Given the description of an element on the screen output the (x, y) to click on. 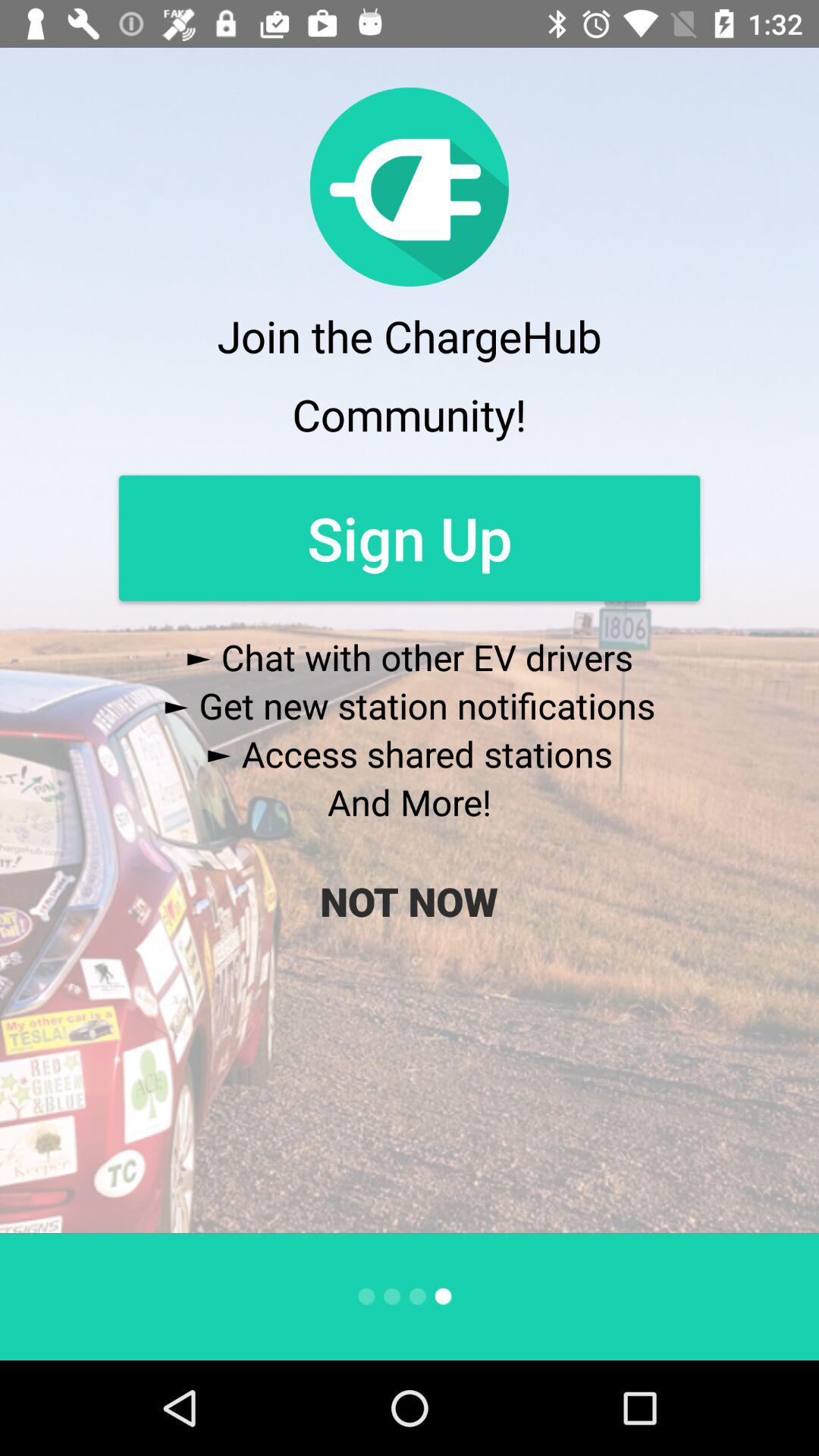
open icon below community! (409, 538)
